Given the description of an element on the screen output the (x, y) to click on. 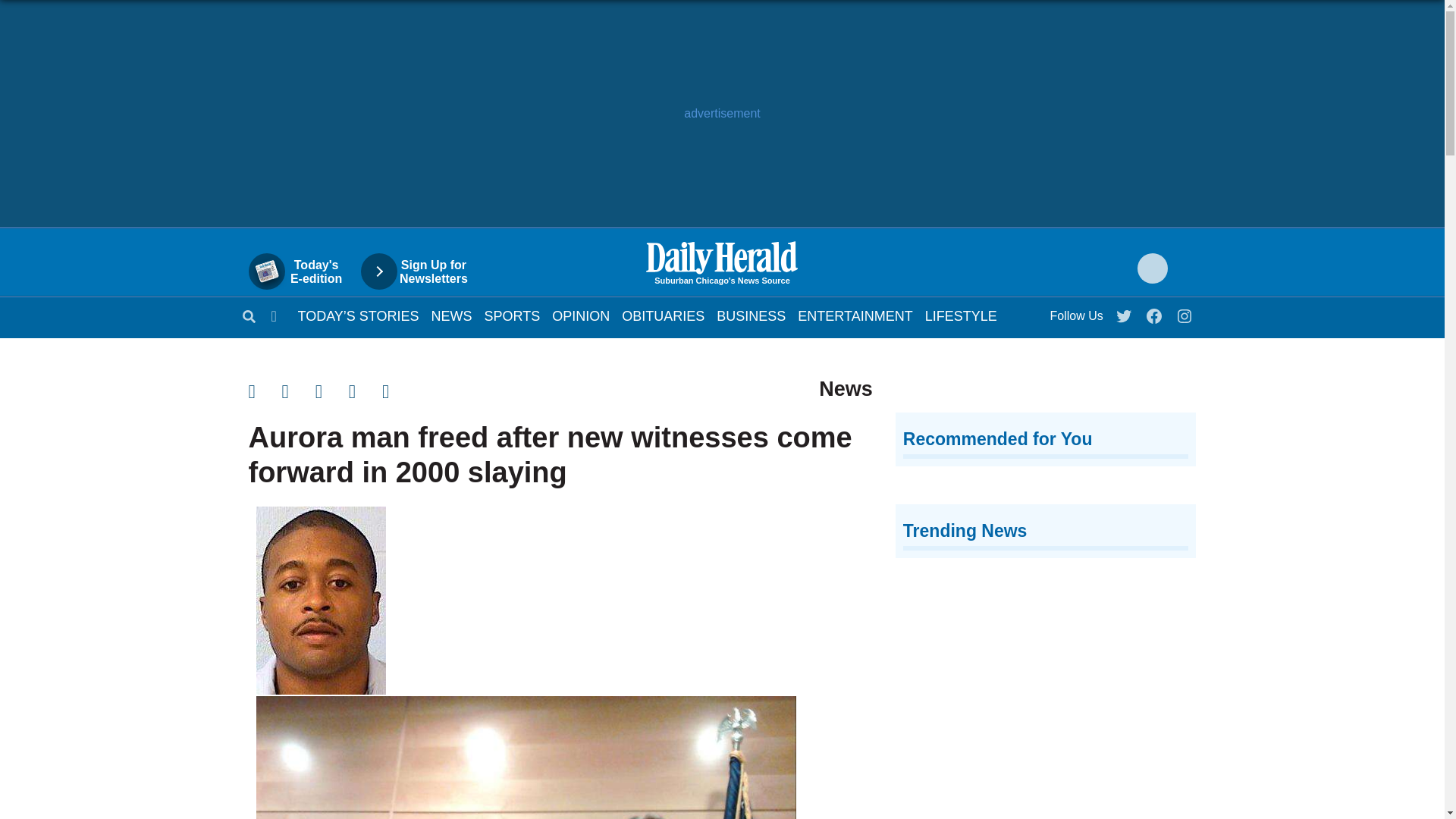
Twitter (1124, 312)
OBITUARIES (662, 315)
Entertainment (303, 271)
Sports (854, 315)
Obituaries (512, 315)
ENTERTAINMENT (662, 315)
News (854, 315)
Share via Email (450, 315)
Opinion (332, 391)
